Given the description of an element on the screen output the (x, y) to click on. 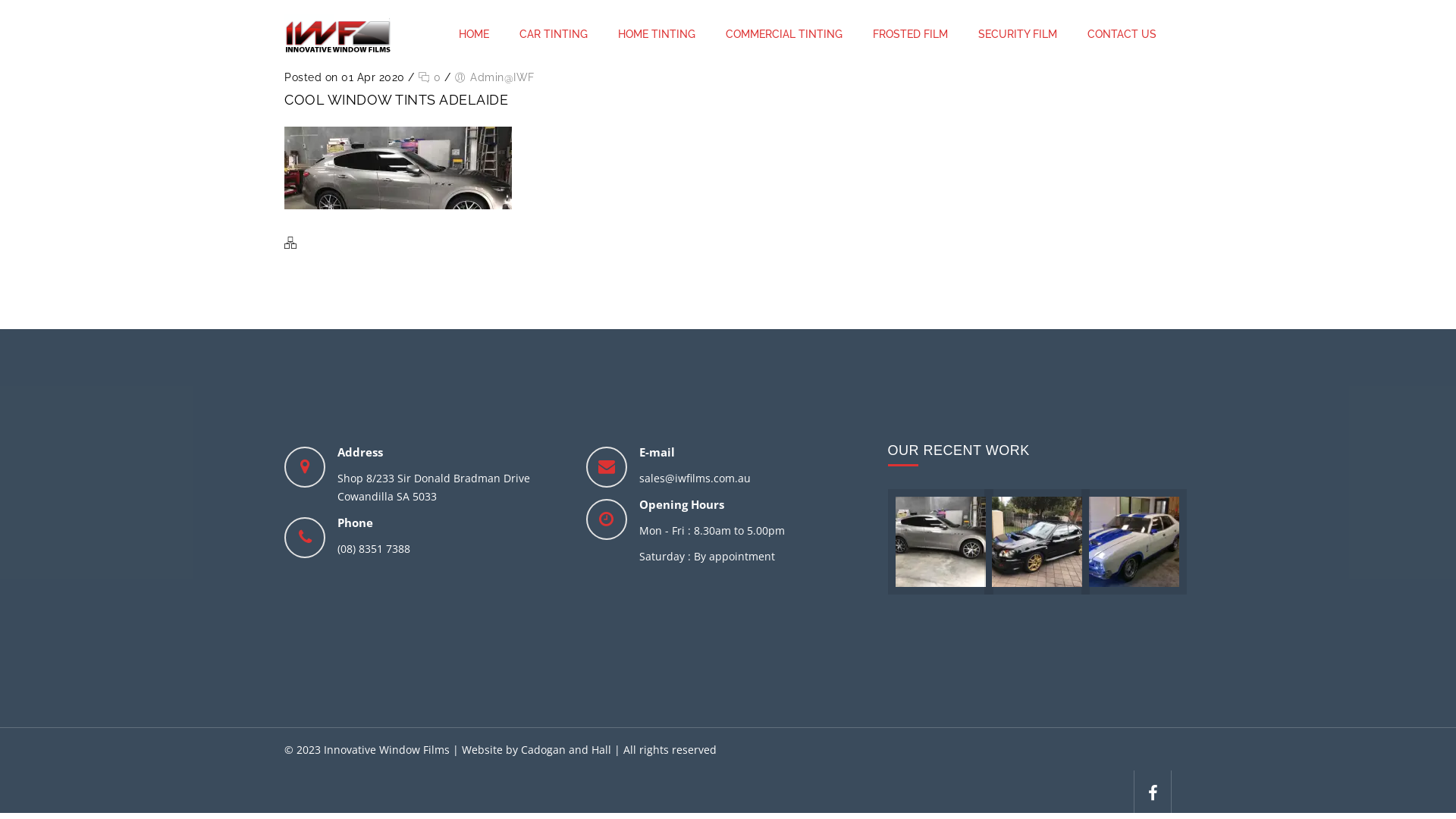
Admin@IWF Element type: text (502, 77)
sales@iwfilms.com.au Element type: text (754, 478)
COOL WINDOW TINTS ADELAIDE Element type: text (396, 99)
FROSTED FILM Element type: text (910, 34)
SECURITY FILM Element type: text (1017, 34)
HOME Element type: text (473, 34)
COMMERCIAL TINTING Element type: text (783, 34)
Facebook Element type: hover (1152, 791)
Innovative Window Films Element type: hover (337, 33)
0 Element type: text (429, 77)
Innovative Window Films Element type: hover (337, 34)
CAR TINTING Element type: text (553, 34)
HOME TINTING Element type: text (656, 34)
CONTACT US Element type: text (1121, 34)
Cadogan and Hall Element type: text (567, 749)
